Given the description of an element on the screen output the (x, y) to click on. 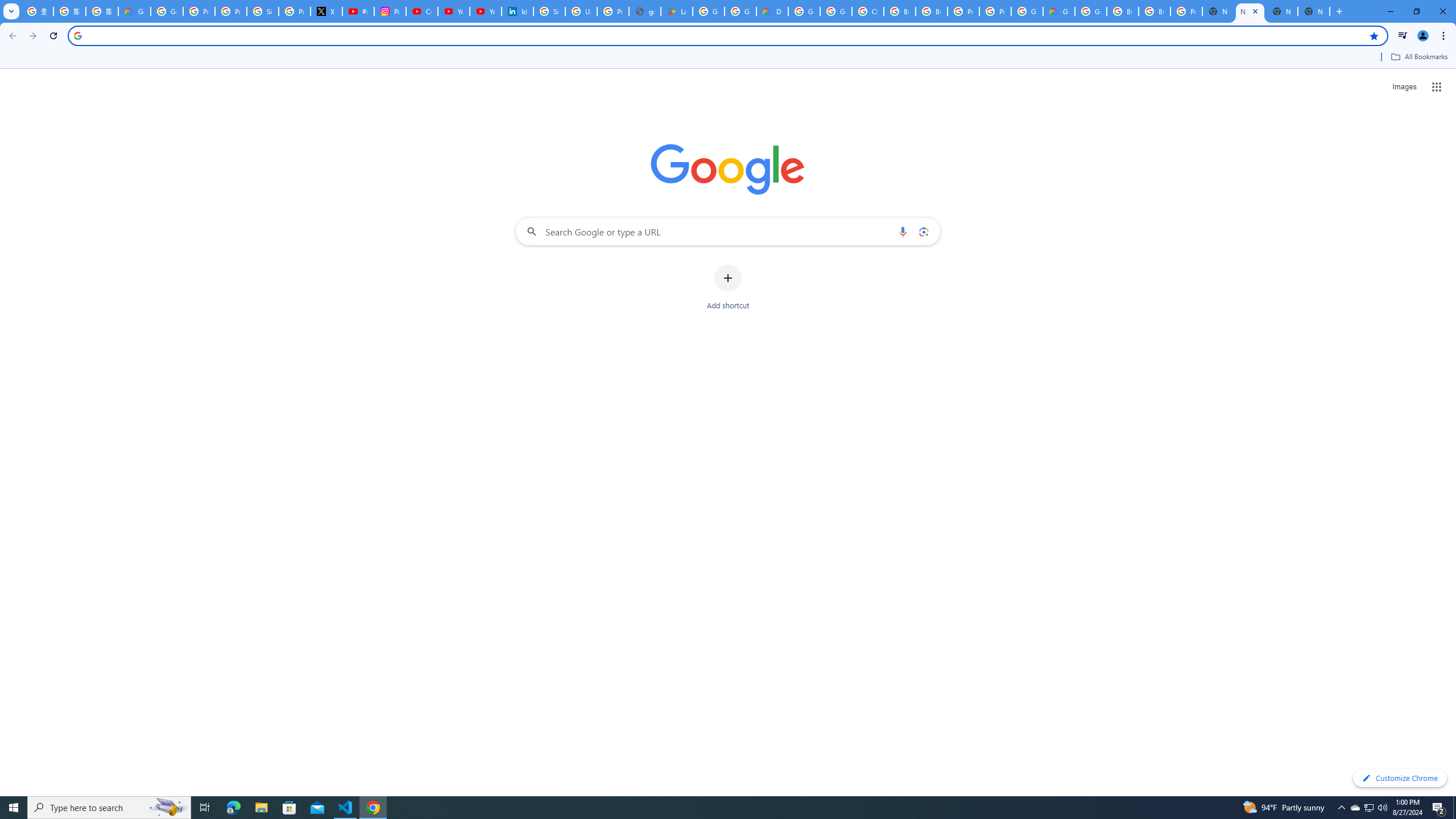
Search Google or type a URL (727, 230)
Privacy Help Center - Policies Help (230, 11)
Google Workspace - Specific Terms (740, 11)
Google Cloud Platform (804, 11)
New Tab (1217, 11)
